Given the description of an element on the screen output the (x, y) to click on. 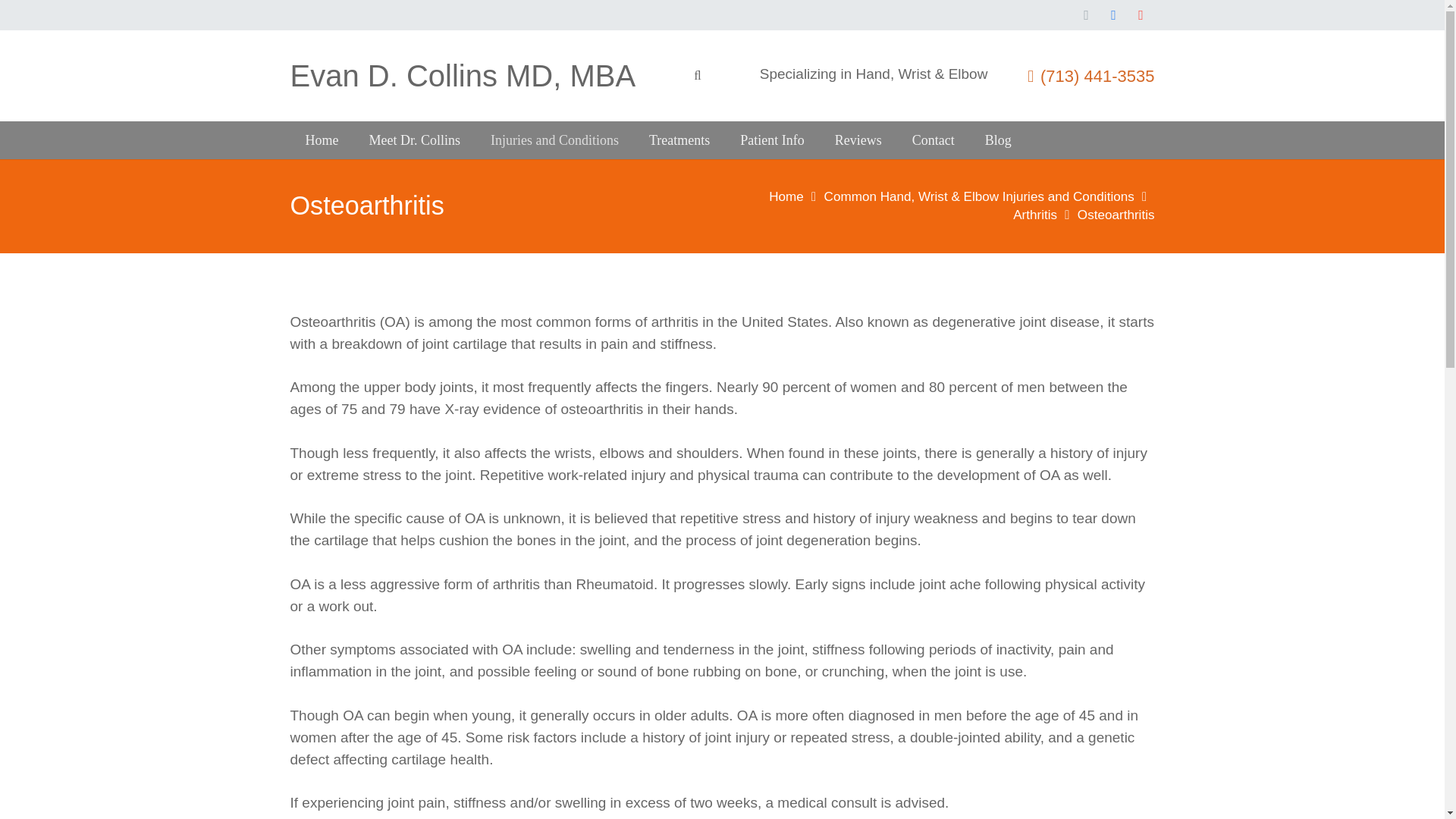
Patient Info (771, 139)
Meet Dr. Collins (414, 139)
Home (321, 139)
Google (1140, 14)
Arthritis (1035, 214)
Injuries and Conditions (554, 139)
Email (1085, 14)
Facebook (1112, 14)
Contact (932, 139)
Osteoarthritis (1115, 214)
Blog (997, 139)
Evan D. Collins MD, MBA (461, 75)
Treatments (679, 139)
Reviews (857, 139)
Home (785, 196)
